Given the description of an element on the screen output the (x, y) to click on. 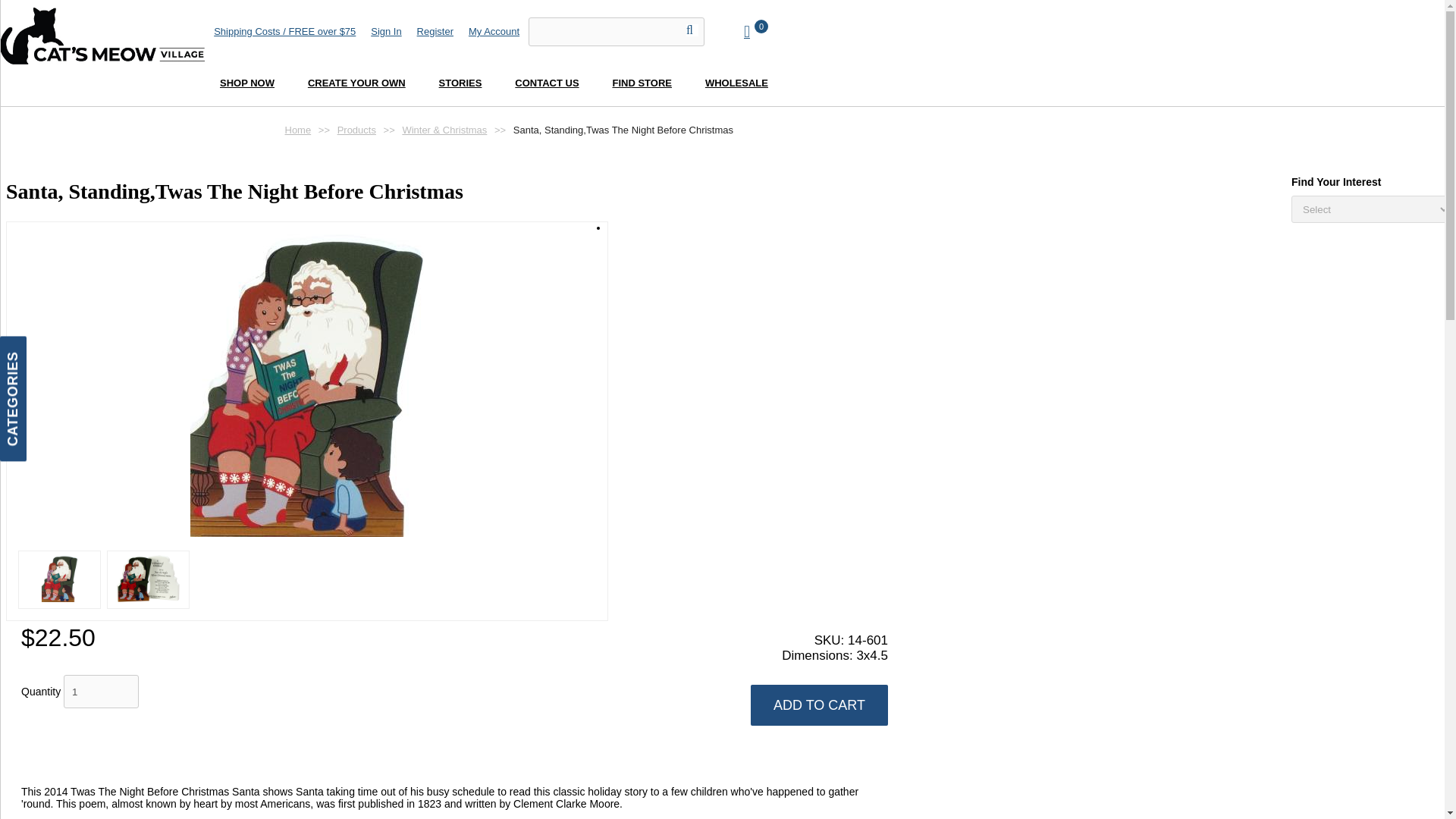
FIND STORE (641, 84)
Home (102, 36)
SHOP NOW (247, 84)
CONTACT US (546, 84)
CREATE YOUR OWN (356, 84)
My Account (493, 30)
1 (101, 691)
Sign In (386, 30)
CATEGORIES (62, 348)
SEARCH (691, 30)
Register (434, 30)
WHOLESALE (736, 84)
STORIES (460, 84)
